Given the description of an element on the screen output the (x, y) to click on. 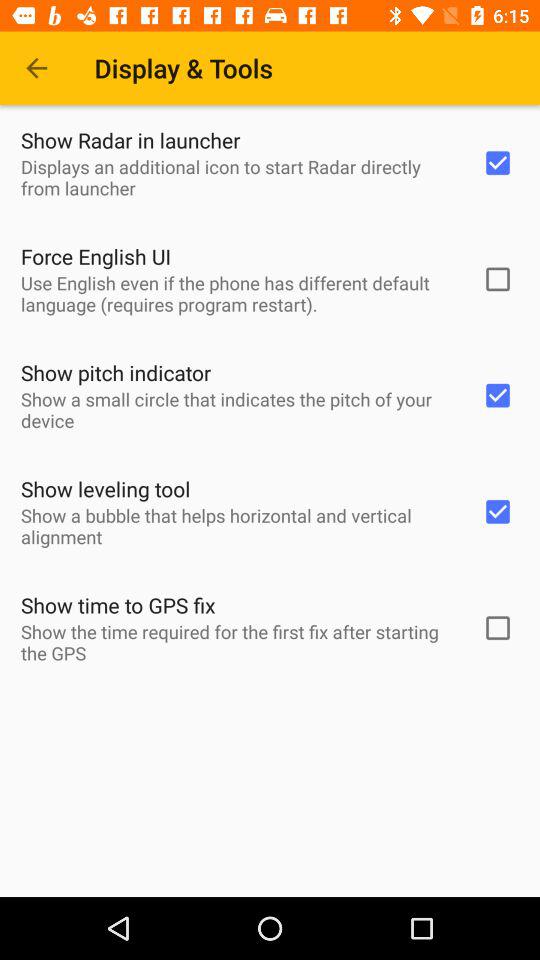
tap item above show pitch indicator (238, 293)
